Given the description of an element on the screen output the (x, y) to click on. 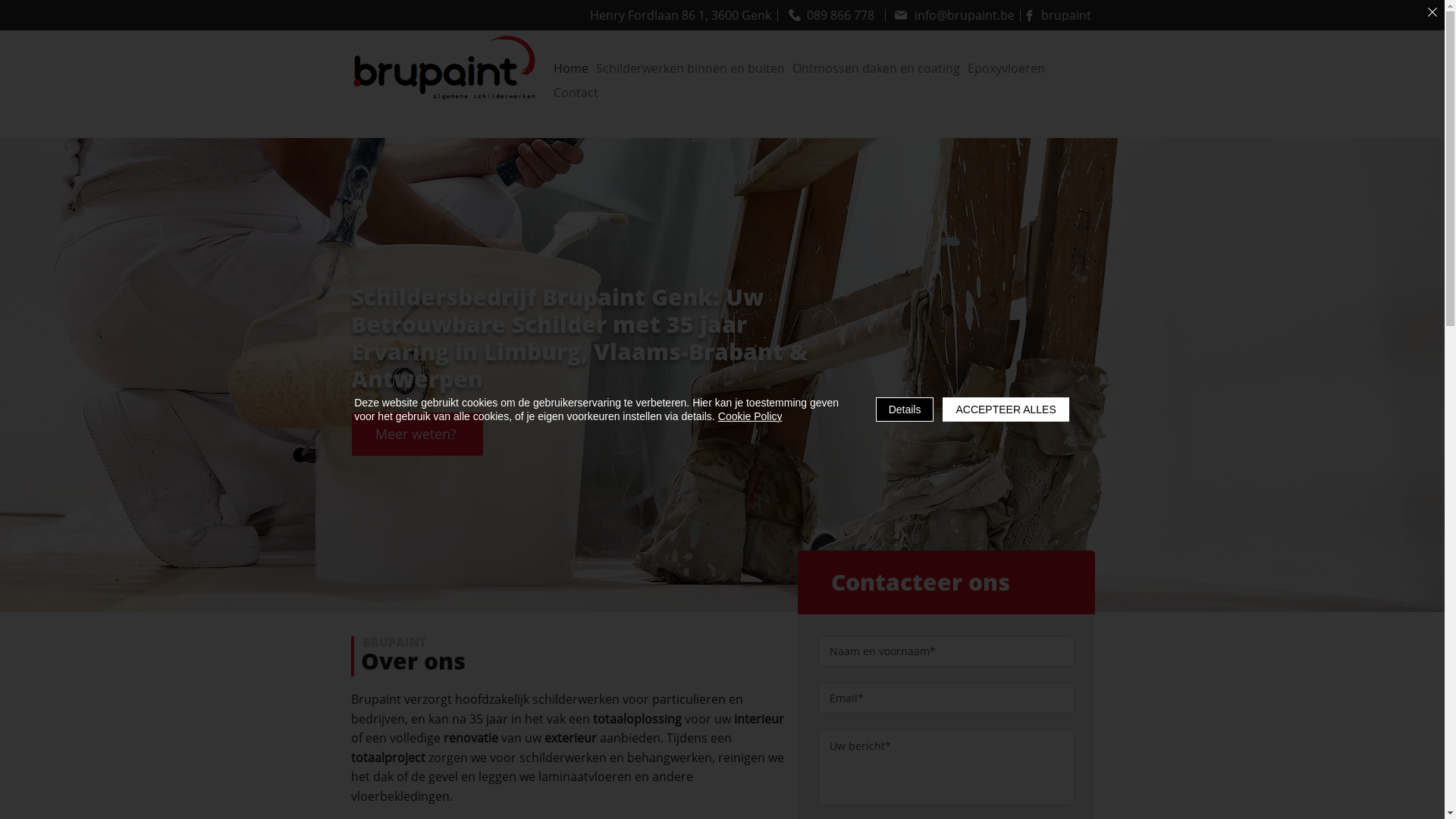
Contact Element type: text (575, 92)
Cookie Policy Element type: text (750, 416)
Home Element type: text (570, 68)
info@brupaint.be Element type: text (953, 15)
Epoxyvloeren Element type: text (1005, 68)
Schilderwerken binnen en buiten Element type: text (690, 68)
089 866 778 Element type: text (830, 15)
Ontmossen daken en coating Element type: text (875, 68)
brupaint Element type: text (1056, 15)
Contacteer ons Element type: text (920, 581)
ACCEPTEER ALLES Element type: text (1005, 409)
Meer weten? Element type: text (417, 433)
Details Element type: text (904, 409)
